Given the description of an element on the screen output the (x, y) to click on. 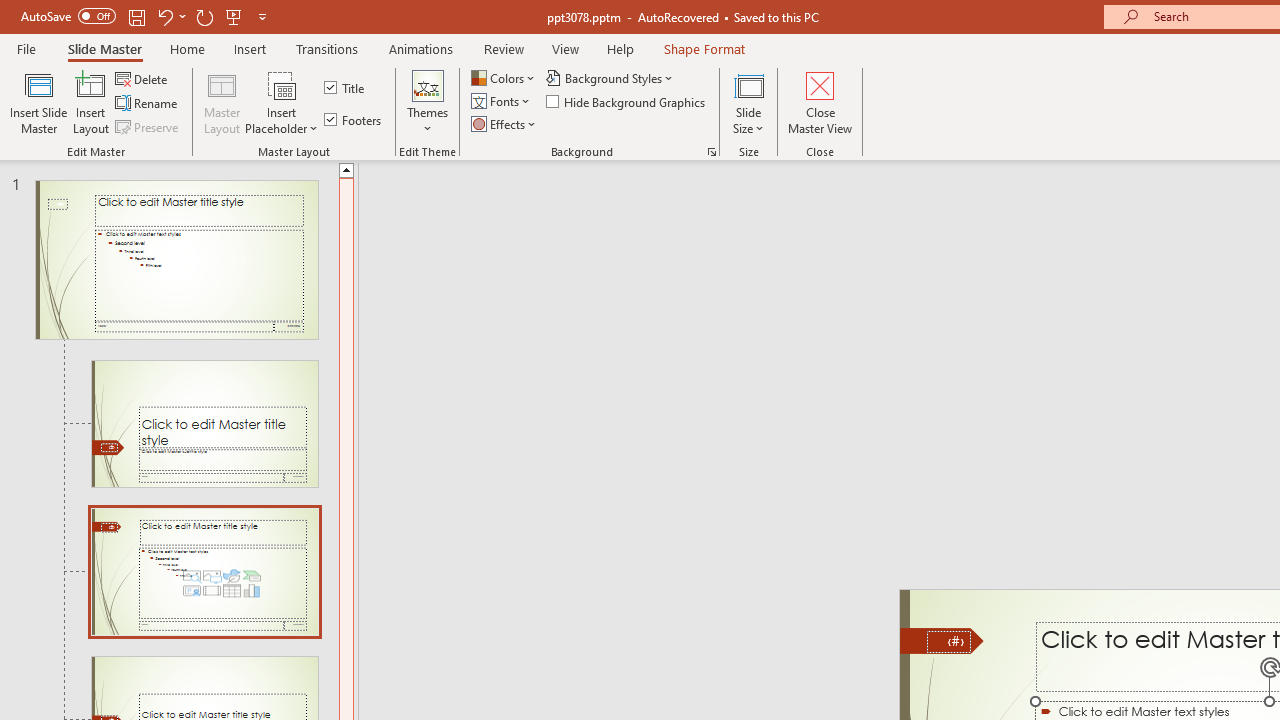
Shape Format (704, 48)
Insert Placeholder (282, 102)
Slide Size (749, 102)
Slide Wisp Slide Master: used by slide(s) 1 (176, 259)
Delete (143, 78)
Hide Background Graphics (626, 101)
Fonts (502, 101)
Background Styles (610, 78)
Rename (148, 103)
